Given the description of an element on the screen output the (x, y) to click on. 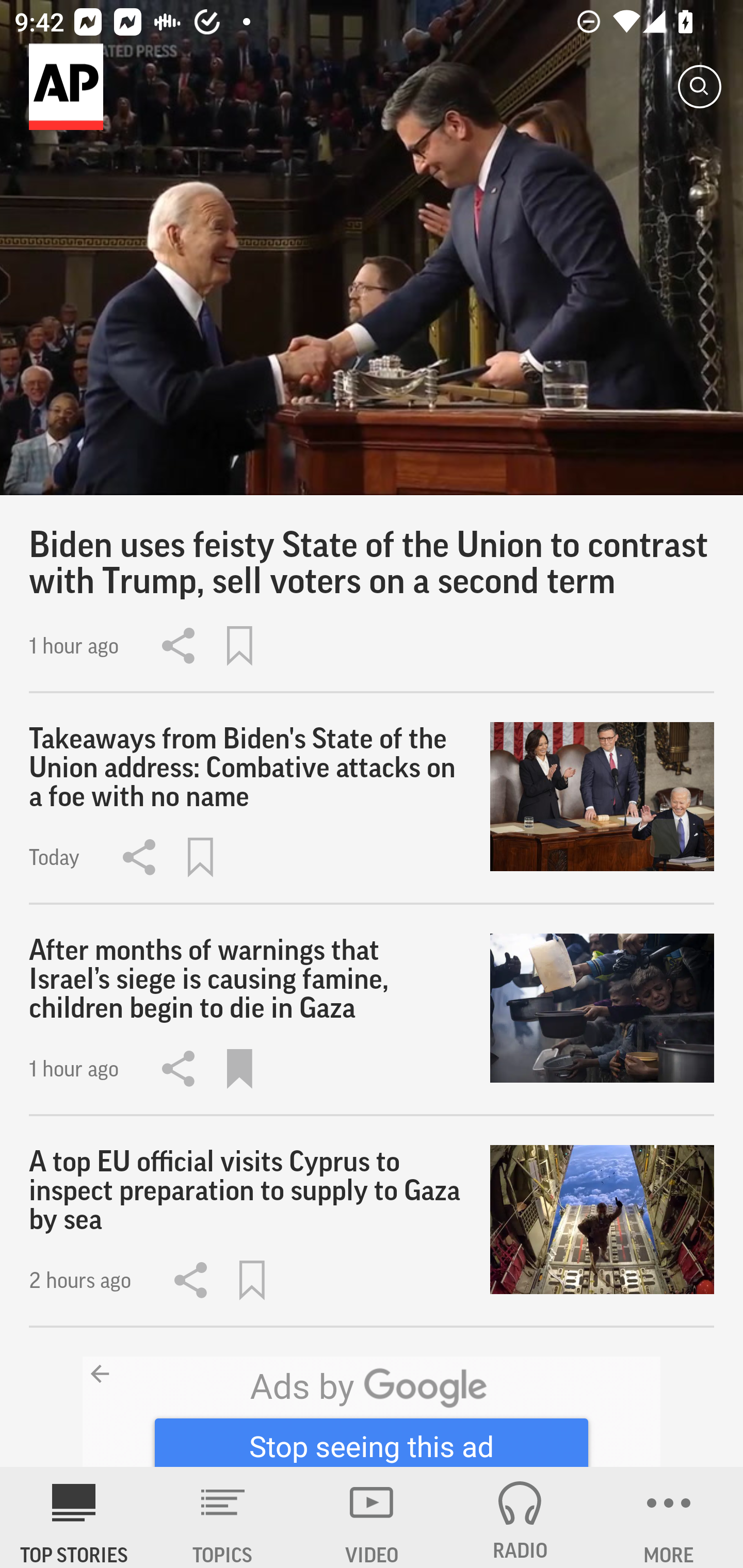
AP News TOP STORIES (74, 1517)
TOPICS (222, 1517)
VIDEO (371, 1517)
RADIO (519, 1517)
MORE (668, 1517)
